Given the description of an element on the screen output the (x, y) to click on. 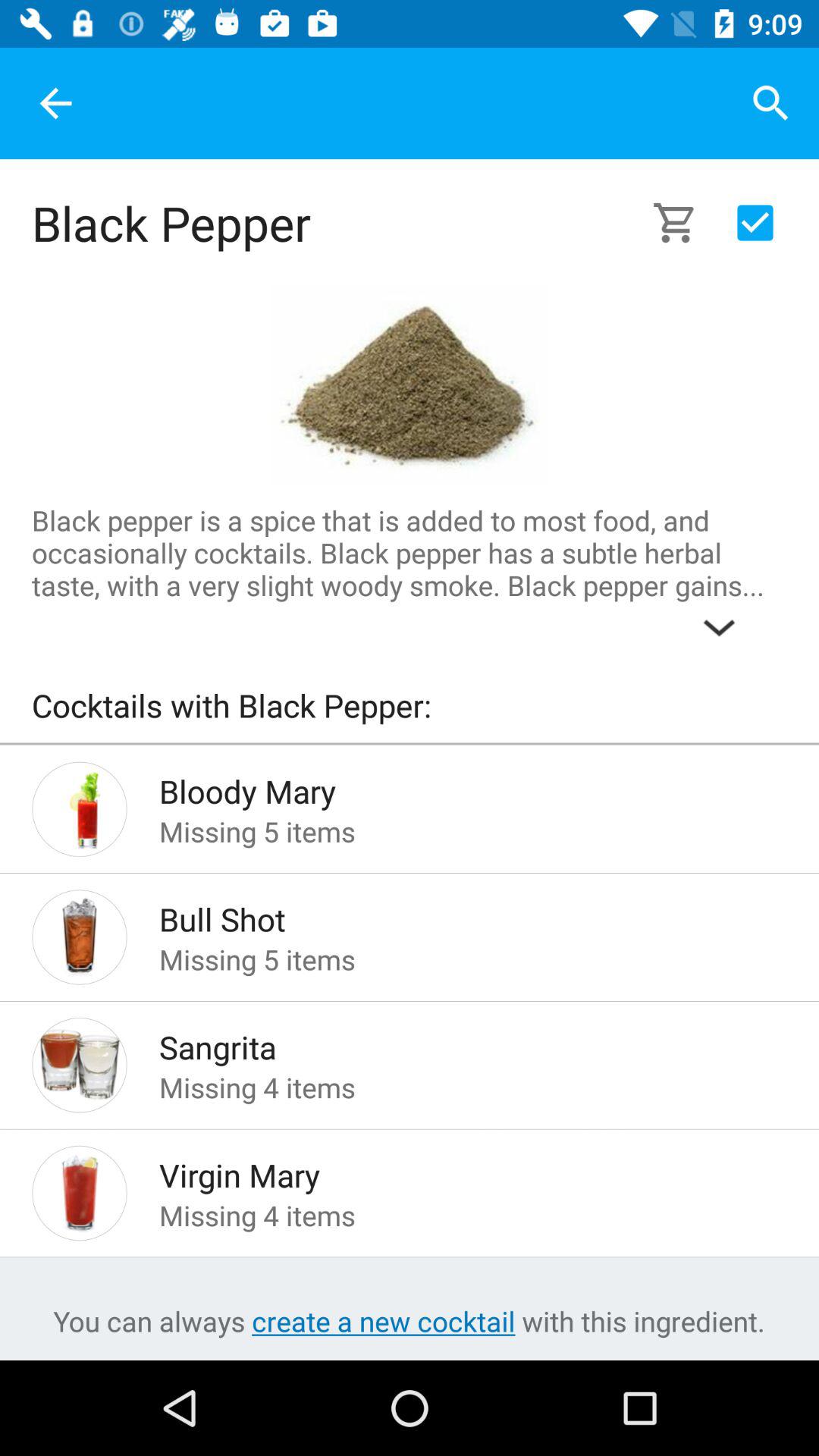
toggle the send button (755, 222)
